Given the description of an element on the screen output the (x, y) to click on. 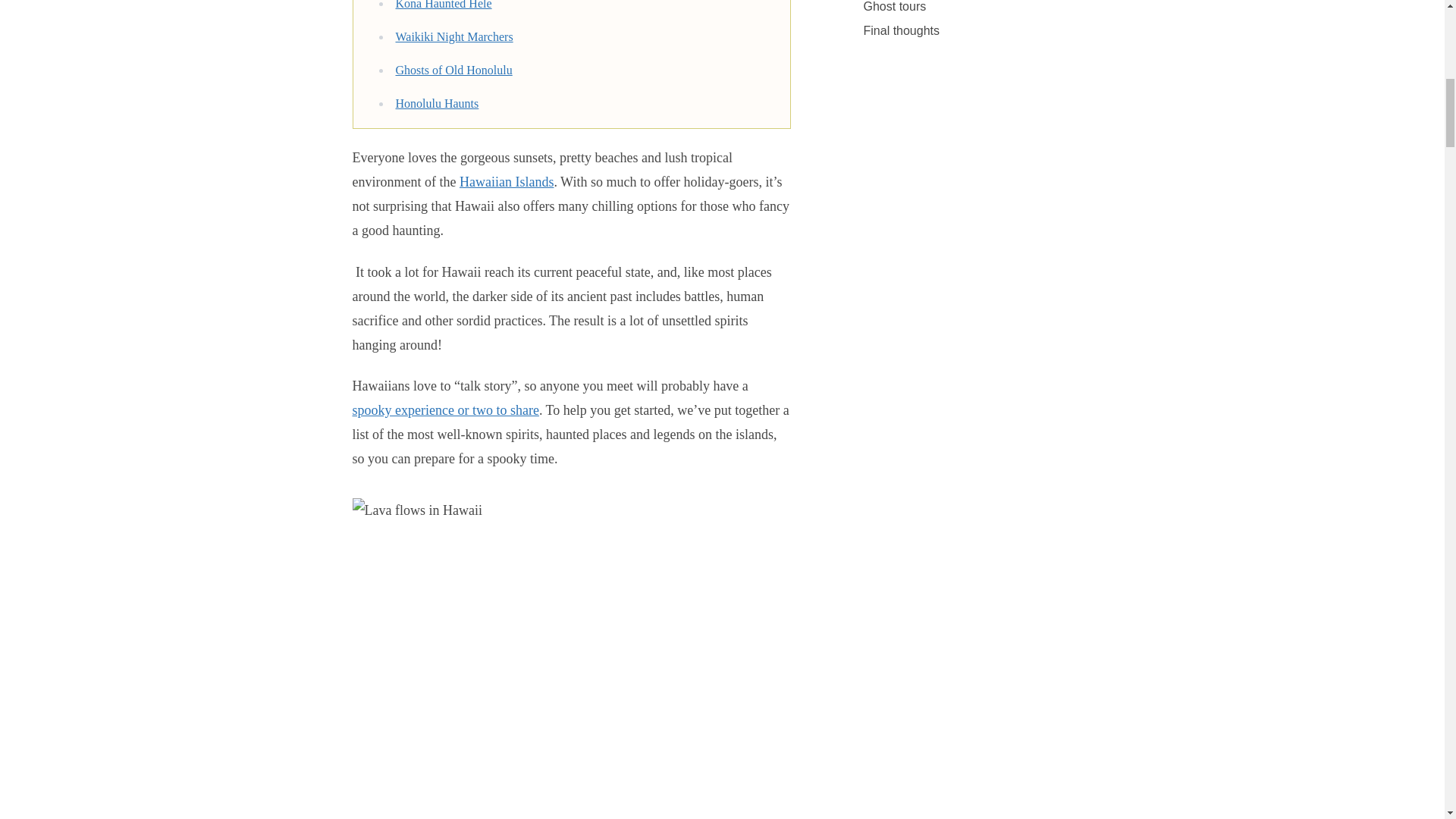
Kona Haunted Hele (444, 4)
Hawaiian Islands (506, 181)
Honolulu Haunts (437, 103)
spooky experience or two to share (445, 409)
Ghosts of Old Honolulu (454, 69)
Ghost tours (894, 9)
Waikiki Night Marchers (454, 36)
Final thoughts (900, 30)
